Given the description of an element on the screen output the (x, y) to click on. 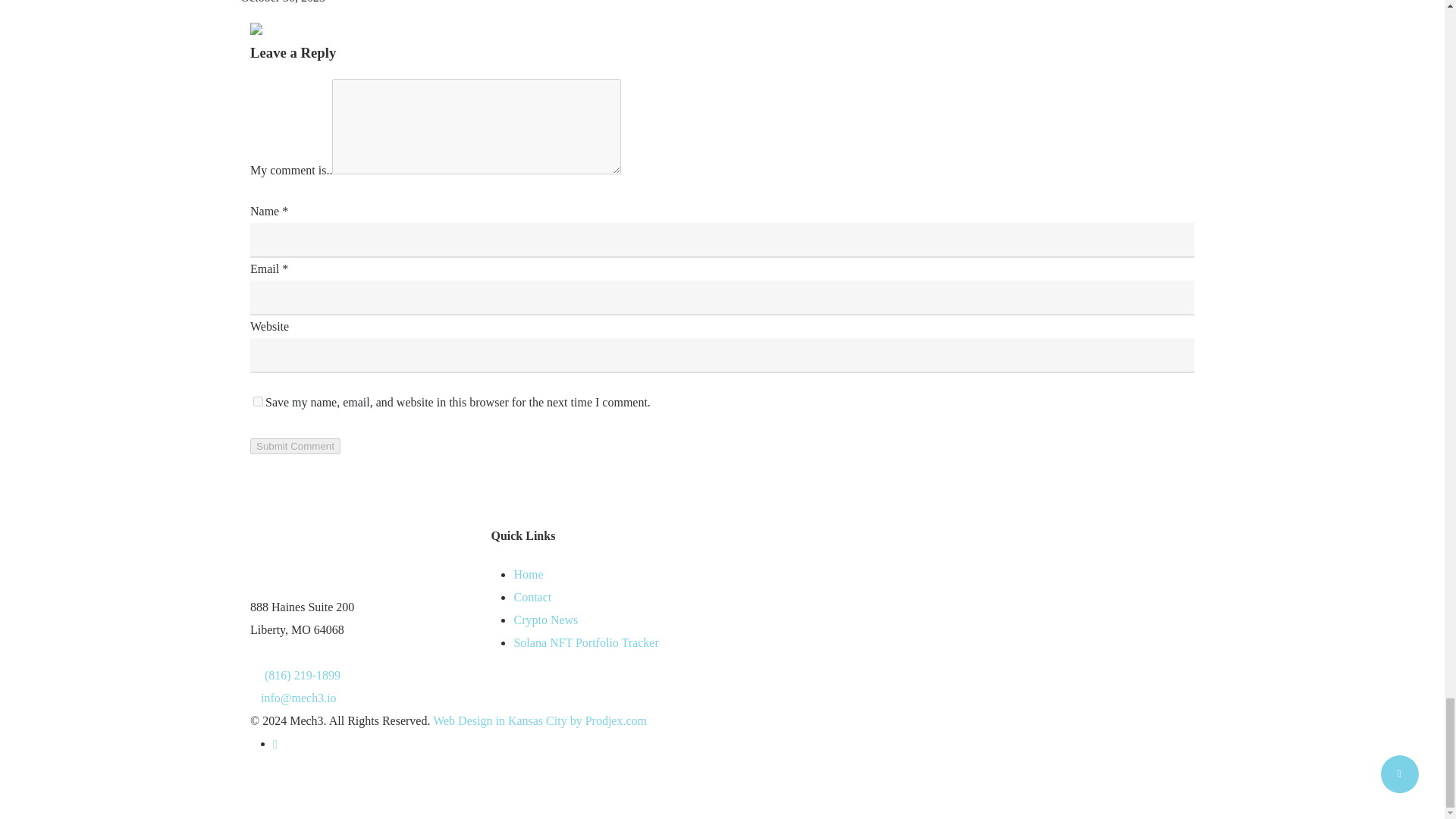
yes (258, 401)
Submit Comment (295, 446)
Submit Comment (295, 446)
Home (528, 574)
